Given the description of an element on the screen output the (x, y) to click on. 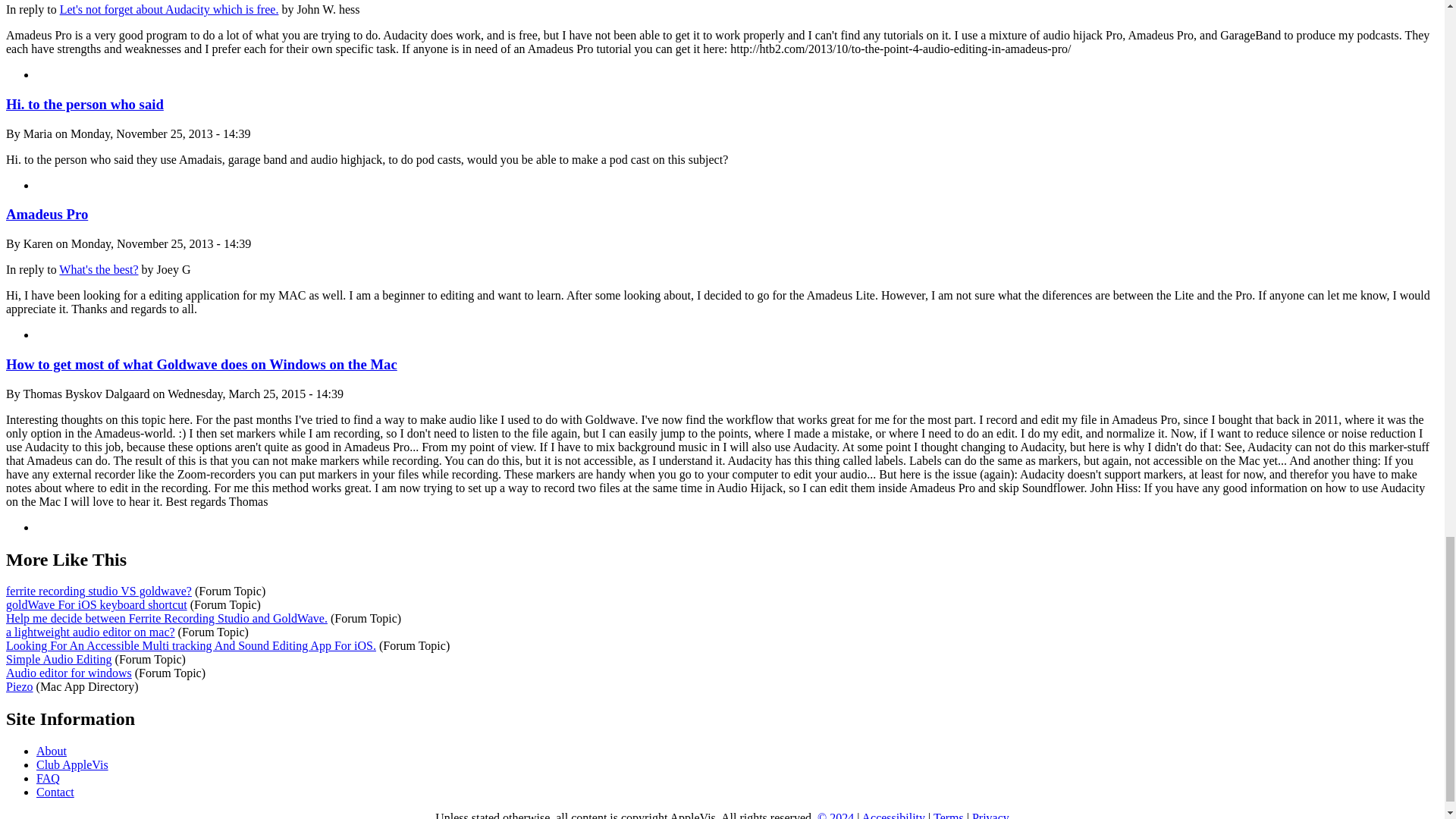
How to get most of what Goldwave does on Windows on the Mac (201, 364)
About (51, 750)
goldWave For iOS keyboard shortcut (96, 604)
Answers to some frequently asked questions about AppleVis (47, 778)
Hi. to the person who said (84, 104)
Let's not forget about Audacity which is free. (169, 9)
Amadeus Pro (46, 213)
ferrite recording studio VS goldwave? (98, 590)
What's the best? (98, 269)
a lightweight audio editor on mac? (89, 631)
